Given the description of an element on the screen output the (x, y) to click on. 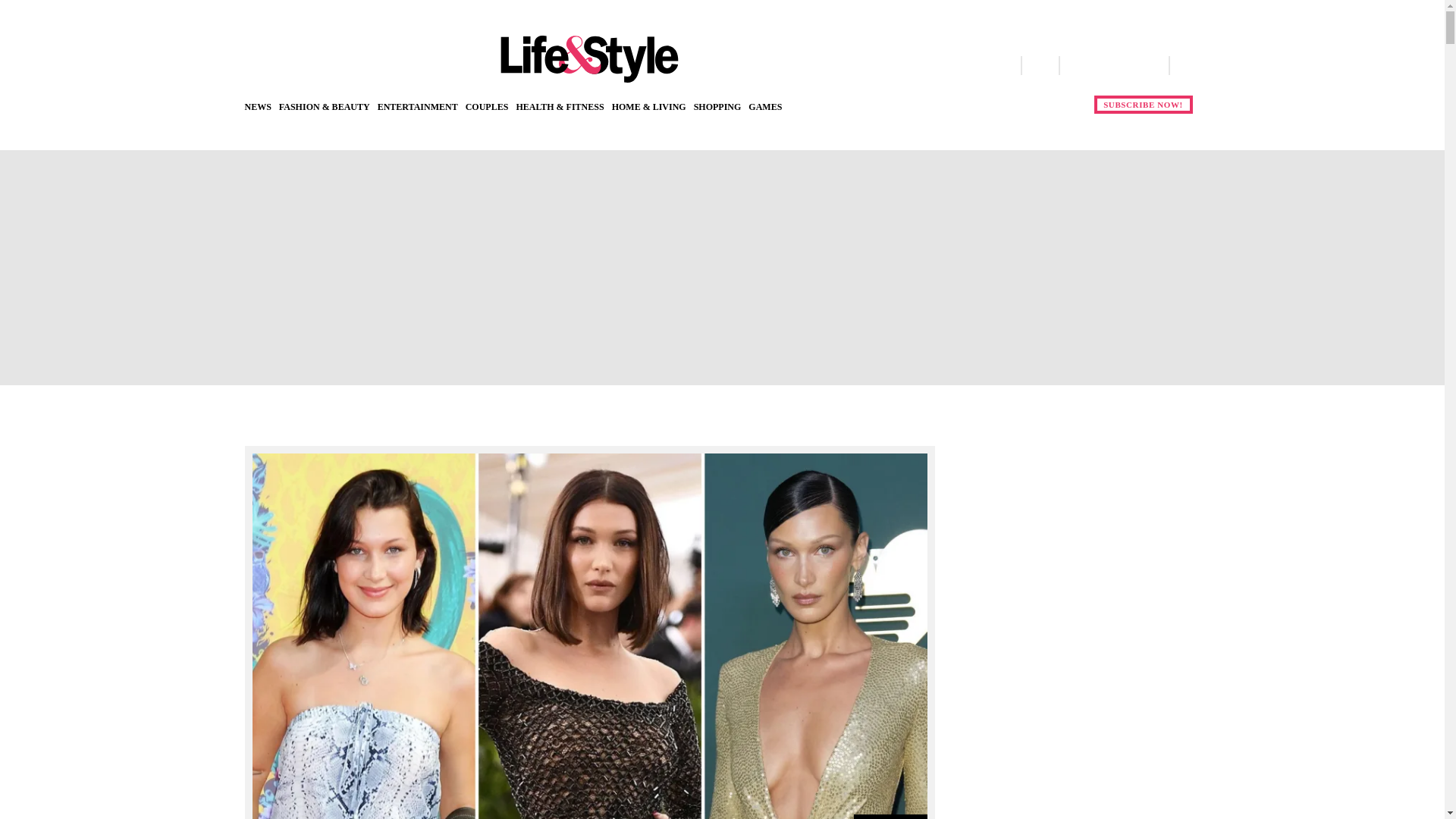
ENTERTAINMENT (417, 106)
NEWS (257, 106)
